Given the description of an element on the screen output the (x, y) to click on. 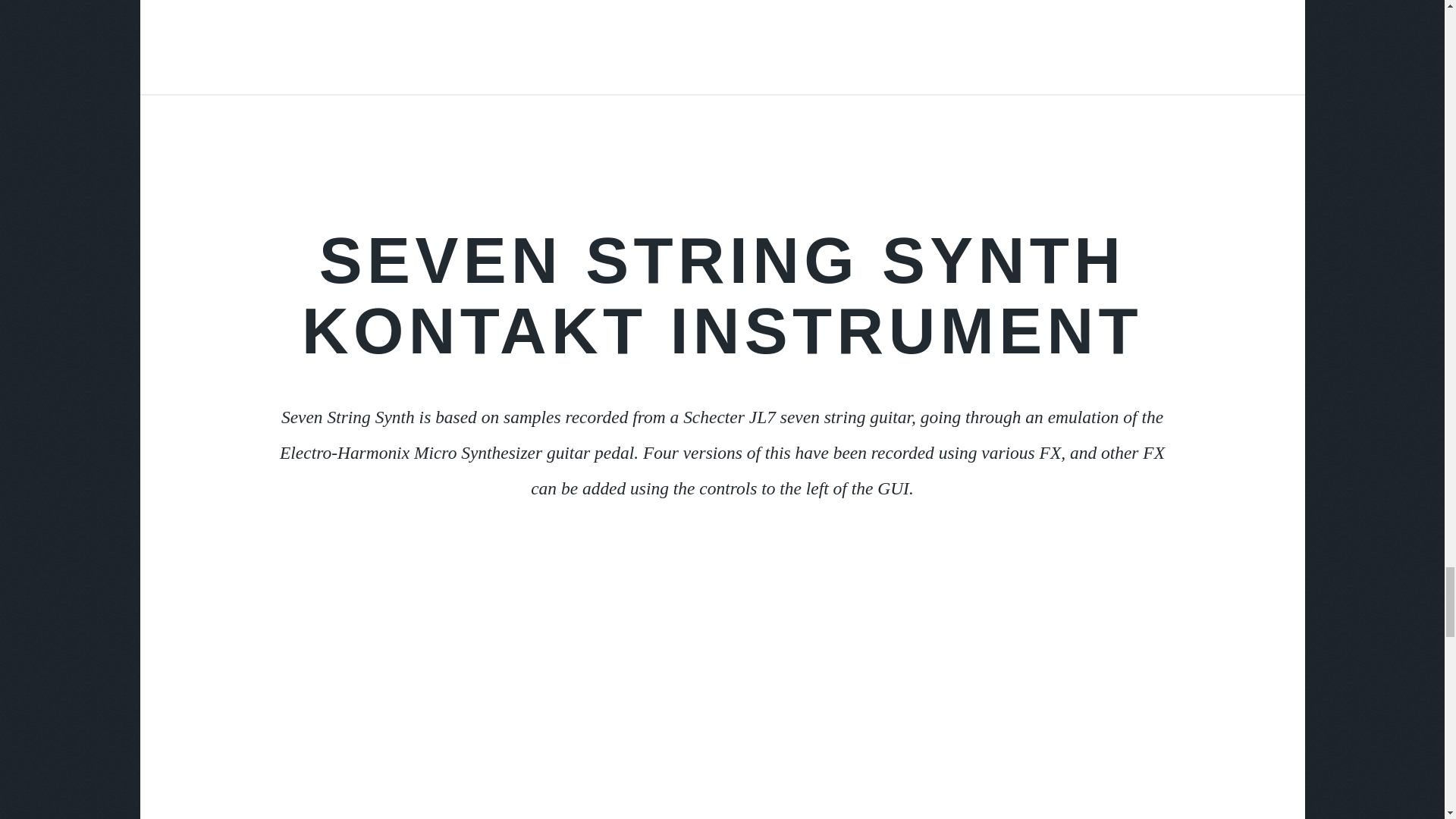
SEVEN STRING SYNTH (721, 260)
